Given the description of an element on the screen output the (x, y) to click on. 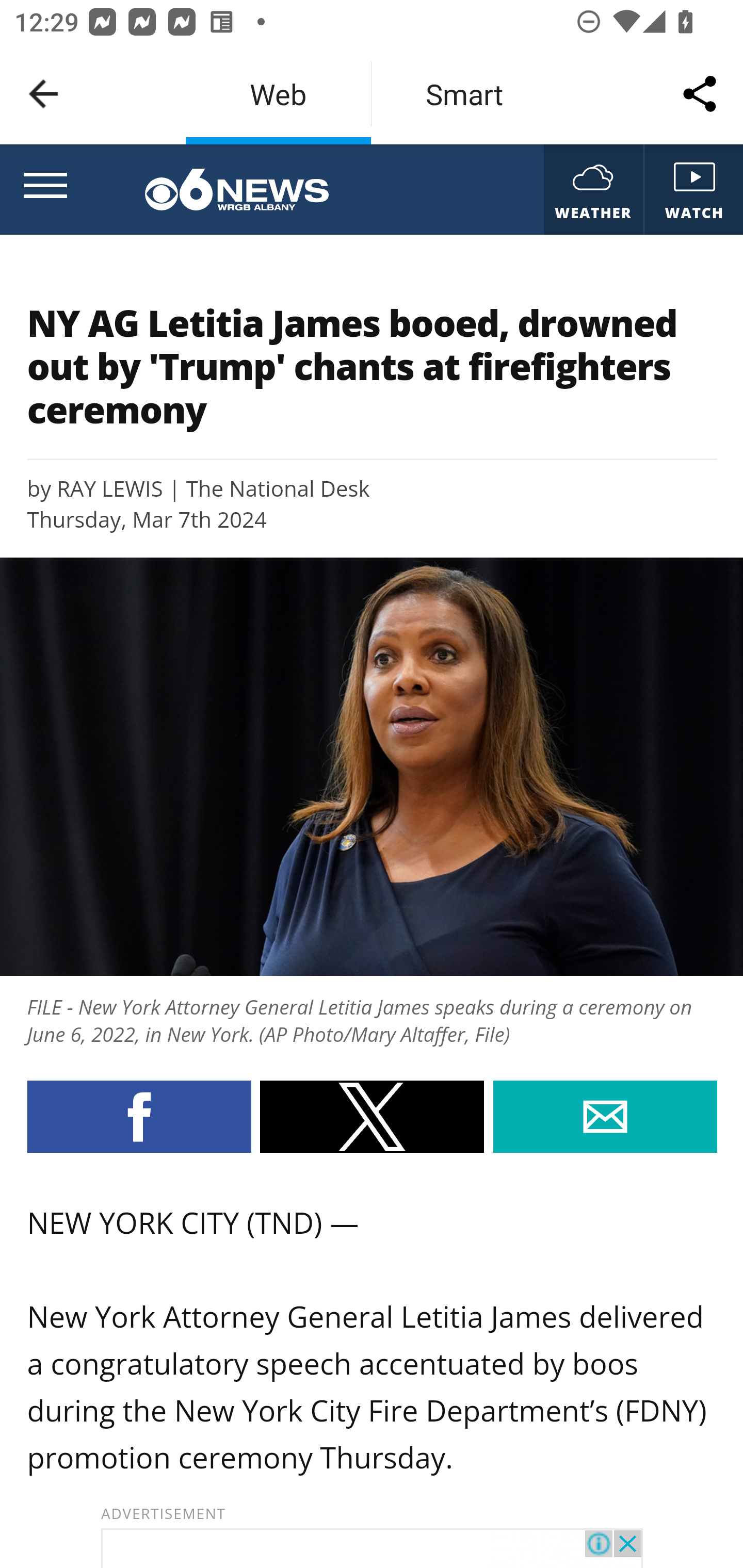
Web (277, 93)
Smart (464, 93)
cbs6albany wrgb-logo (236, 190)
WEATHER sbg-amp-weather WEATHER (592, 190)
WATCH sbg-video1 WATCH (692, 190)
Share by facebook (138, 1116)
Share by twitter (371, 1116)
Share by email (604, 1116)
